Given the description of an element on the screen output the (x, y) to click on. 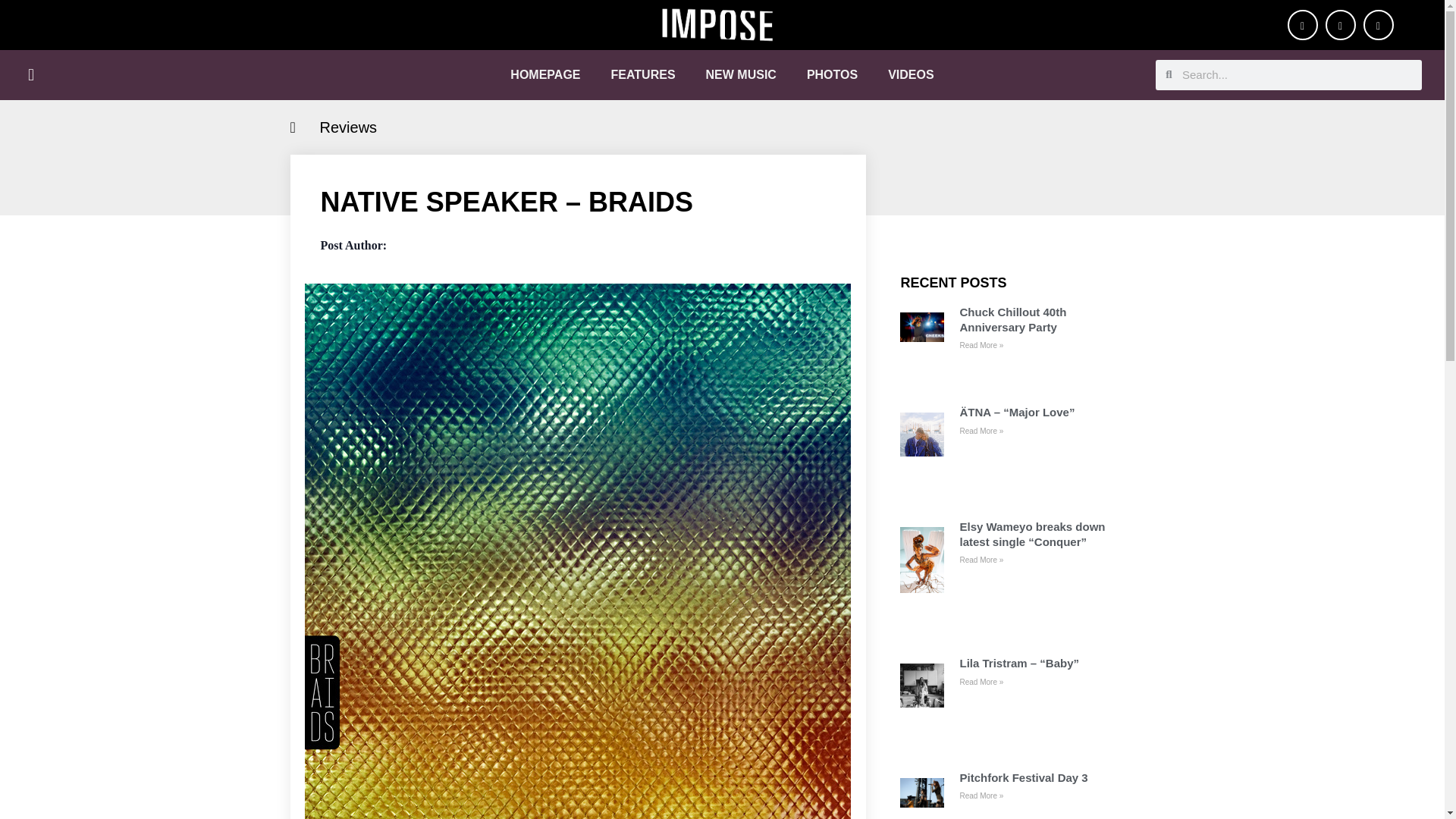
NEW MUSIC (741, 74)
FEATURES (642, 74)
HOMEPAGE (545, 74)
PHOTOS (832, 74)
Chuck Chillout 40th Anniversary Party (1039, 319)
VIDEOS (910, 74)
Reviews (348, 126)
